Given the description of an element on the screen output the (x, y) to click on. 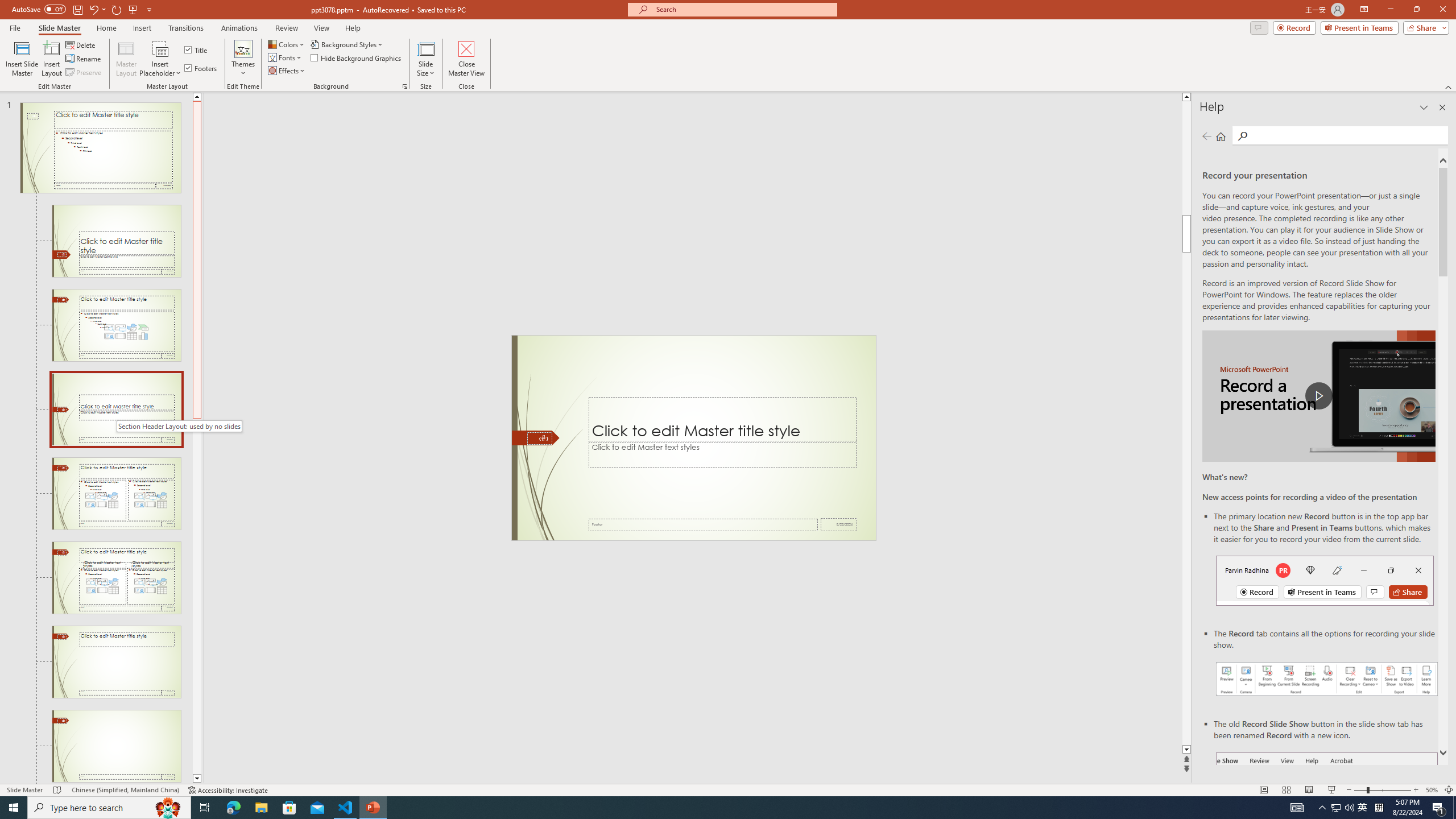
Slide Two Content Layout: used by no slides (116, 493)
Hide Background Graphics (356, 56)
Slide Section Header Layout: used by no slides (116, 409)
play Record a Presentation (1318, 395)
Previous page (1206, 136)
Footer (703, 524)
